Given the description of an element on the screen output the (x, y) to click on. 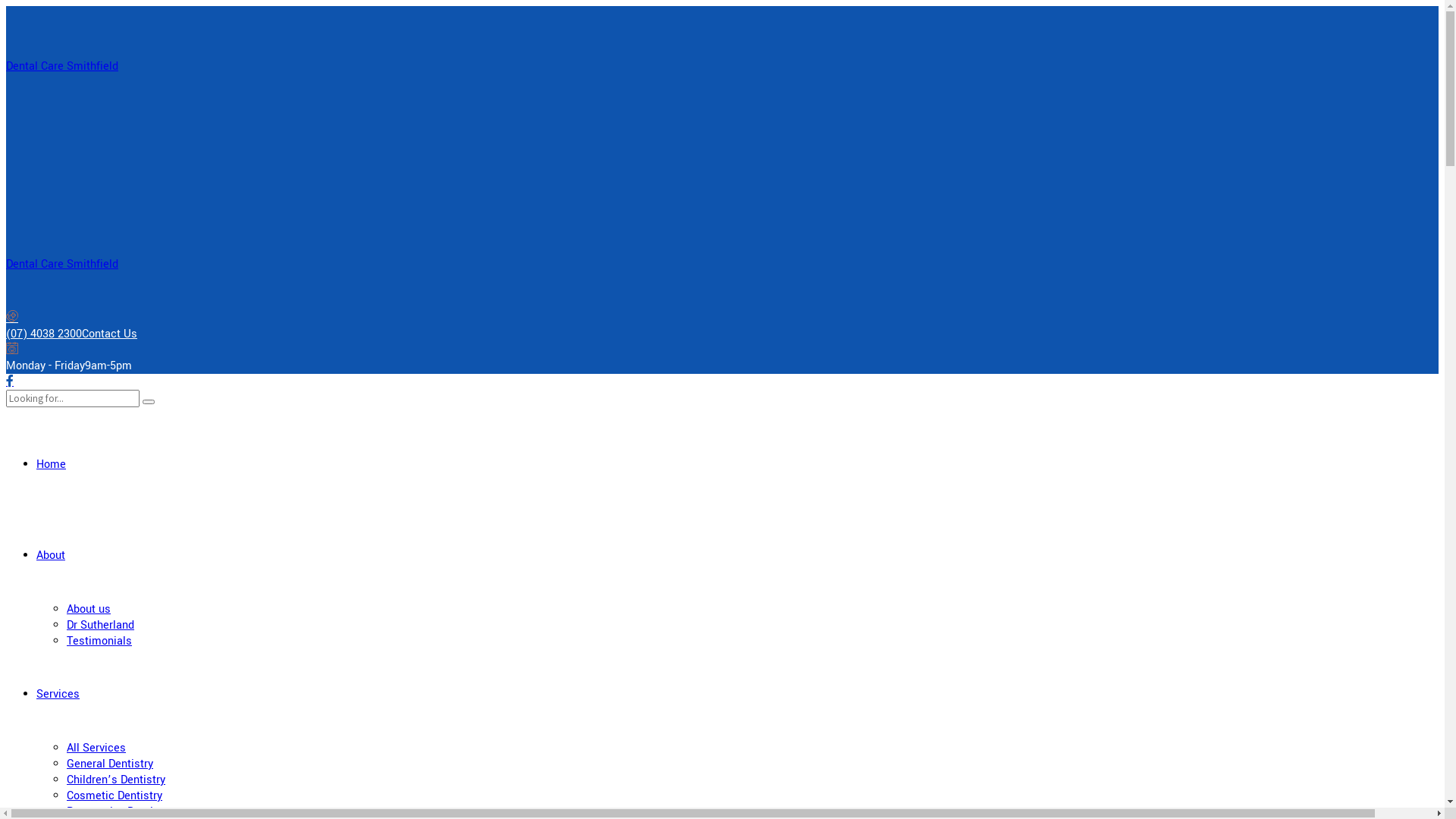
(07) 4038 2300Contact Us Element type: text (722, 326)
Dr Sutherland Element type: text (100, 625)
Cosmetic Dentistry Element type: text (114, 795)
Home Element type: text (50, 464)
Testimonials Element type: text (98, 641)
Dental Care Smithfield Element type: text (62, 66)
All Services Element type: text (95, 748)
Services Element type: text (57, 694)
About Element type: text (50, 555)
Dental Care Smithfield Element type: text (62, 264)
General Dentistry Element type: text (109, 763)
About us Element type: text (88, 609)
